Given the description of an element on the screen output the (x, y) to click on. 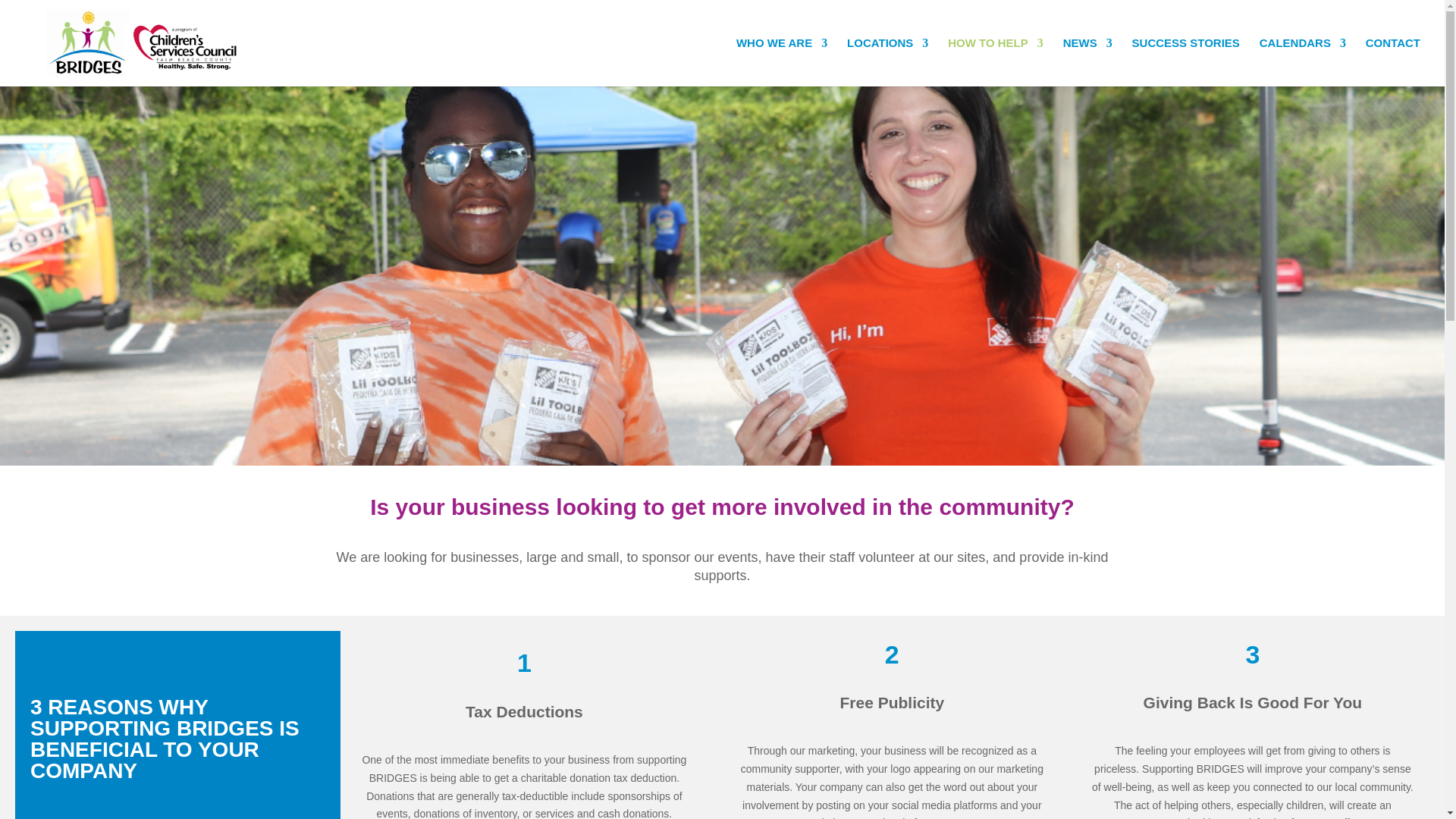
WHO WE ARE (781, 61)
SUCCESS STORIES (1186, 61)
CALENDARS (1302, 61)
LOCATIONS (887, 61)
CONTACT (1393, 61)
HOW TO HELP (995, 61)
NEWS (1087, 61)
